Given the description of an element on the screen output the (x, y) to click on. 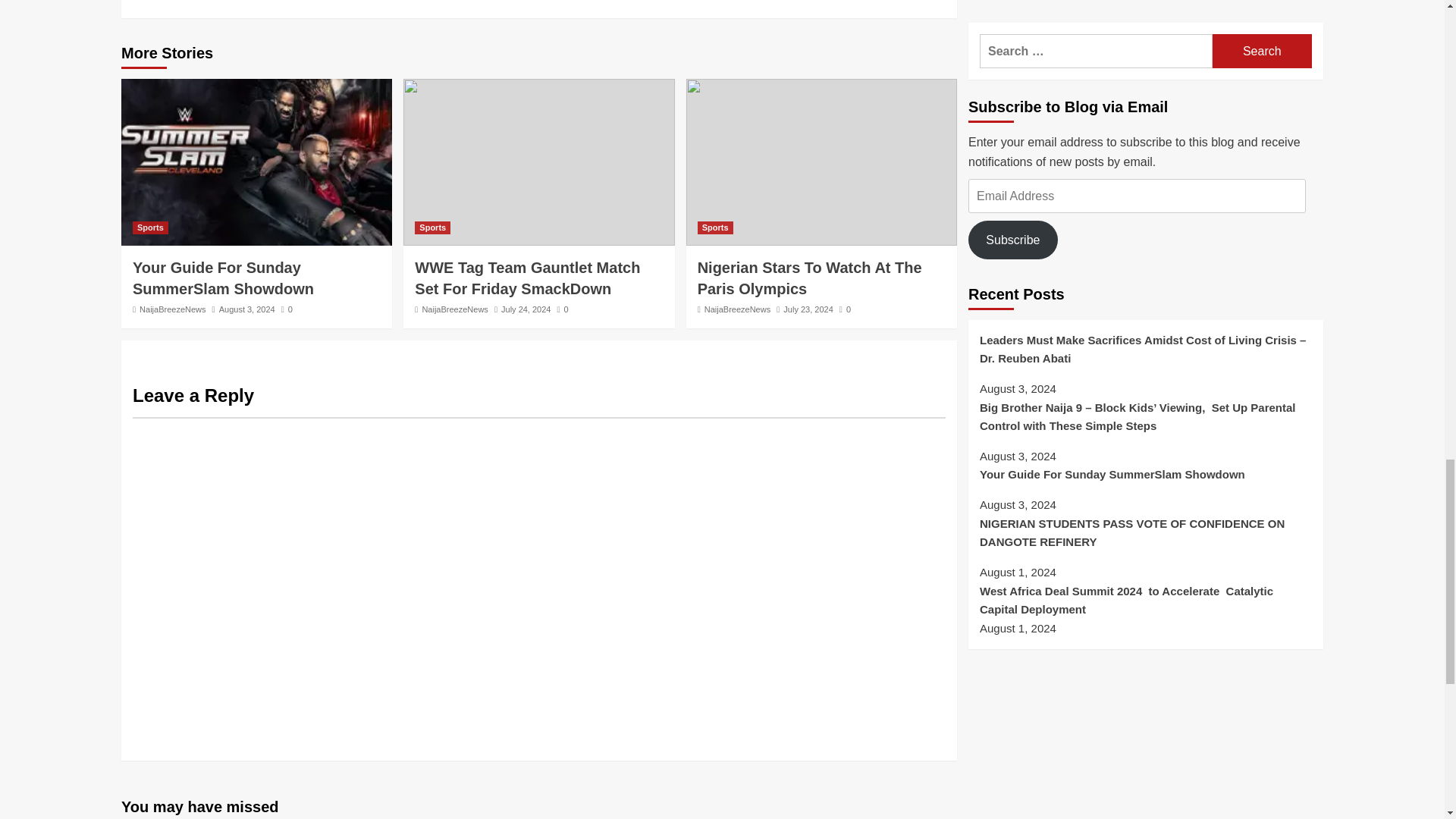
WWE Tag Team Gauntlet Match Set For Friday SmackDown (527, 278)
Your Guide For Sunday SummerSlam Showdown  (224, 278)
0 (286, 308)
August 3, 2024 (247, 308)
Sports (431, 227)
NaijaBreezeNews (172, 308)
Sports (150, 227)
